Given the description of an element on the screen output the (x, y) to click on. 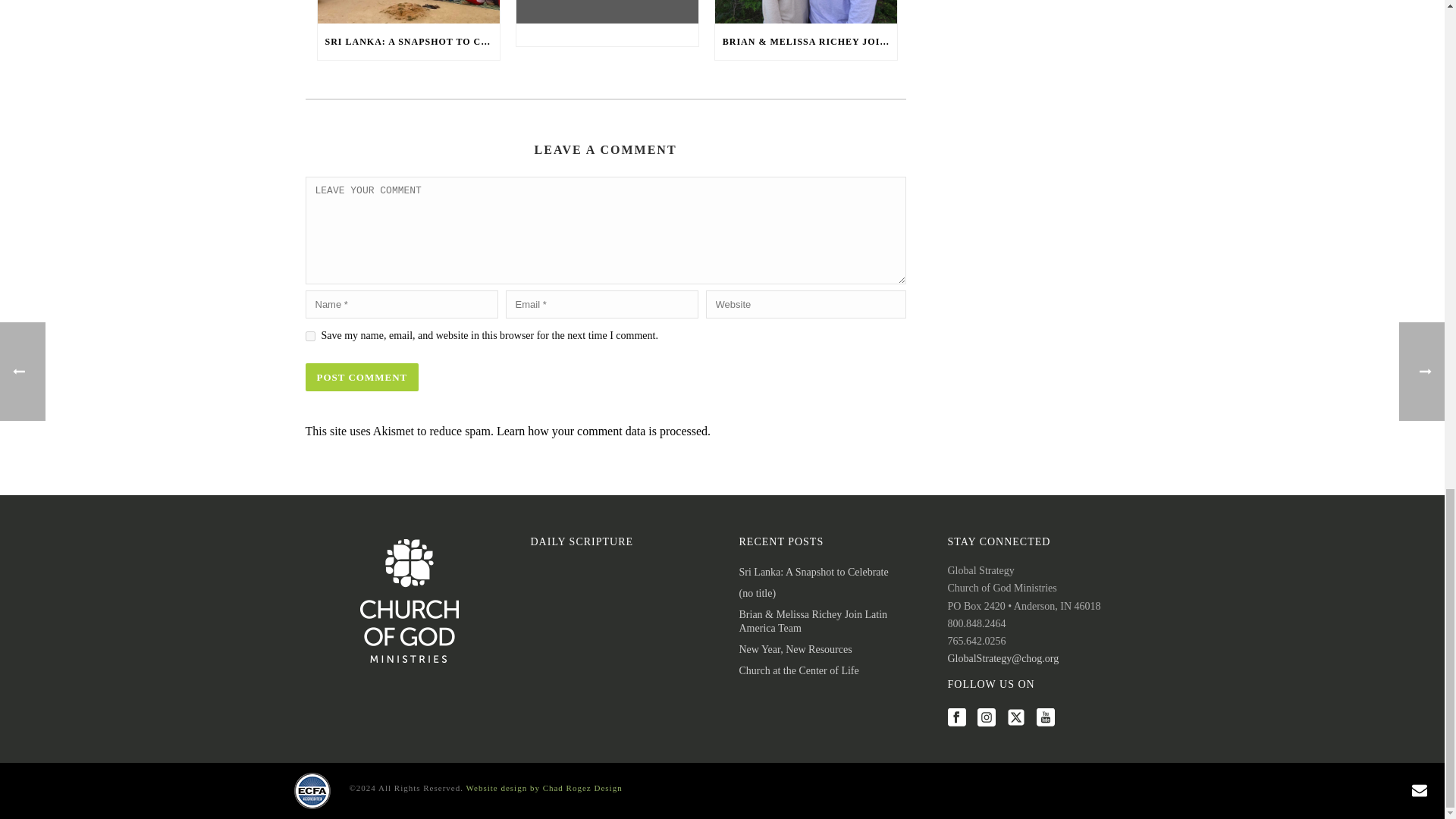
Global Strategy (311, 789)
SRI LANKA: A SNAPSHOT TO CELEBRATE (408, 41)
POST COMMENT (361, 377)
Follow Us on youtube (1044, 718)
Church at the Center of Life (798, 671)
Learn how your comment data is processed (601, 431)
Website design by Chad Rogez Design (544, 787)
Sri Lanka: A Snapshot to Celebrate (813, 572)
yes (309, 336)
Follow Us on facebook (956, 718)
